Given the description of an element on the screen output the (x, y) to click on. 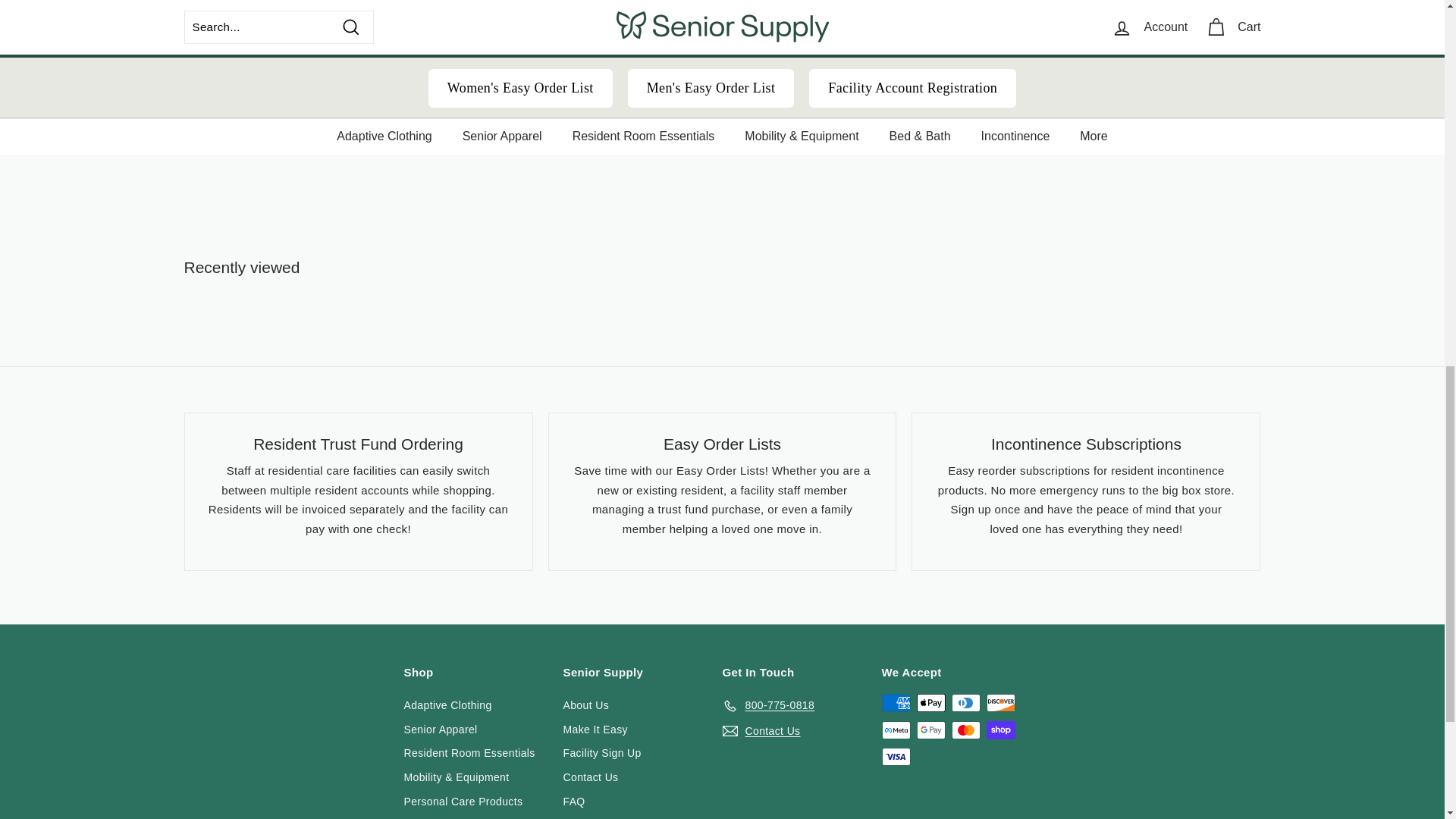
Discover (999, 702)
Apple Pay (929, 702)
Visa (895, 756)
Google Pay (929, 730)
Diners Club (964, 702)
American Express (895, 702)
Shop Pay (999, 730)
Meta Pay (895, 730)
Mastercard (964, 730)
